Given the description of an element on the screen output the (x, y) to click on. 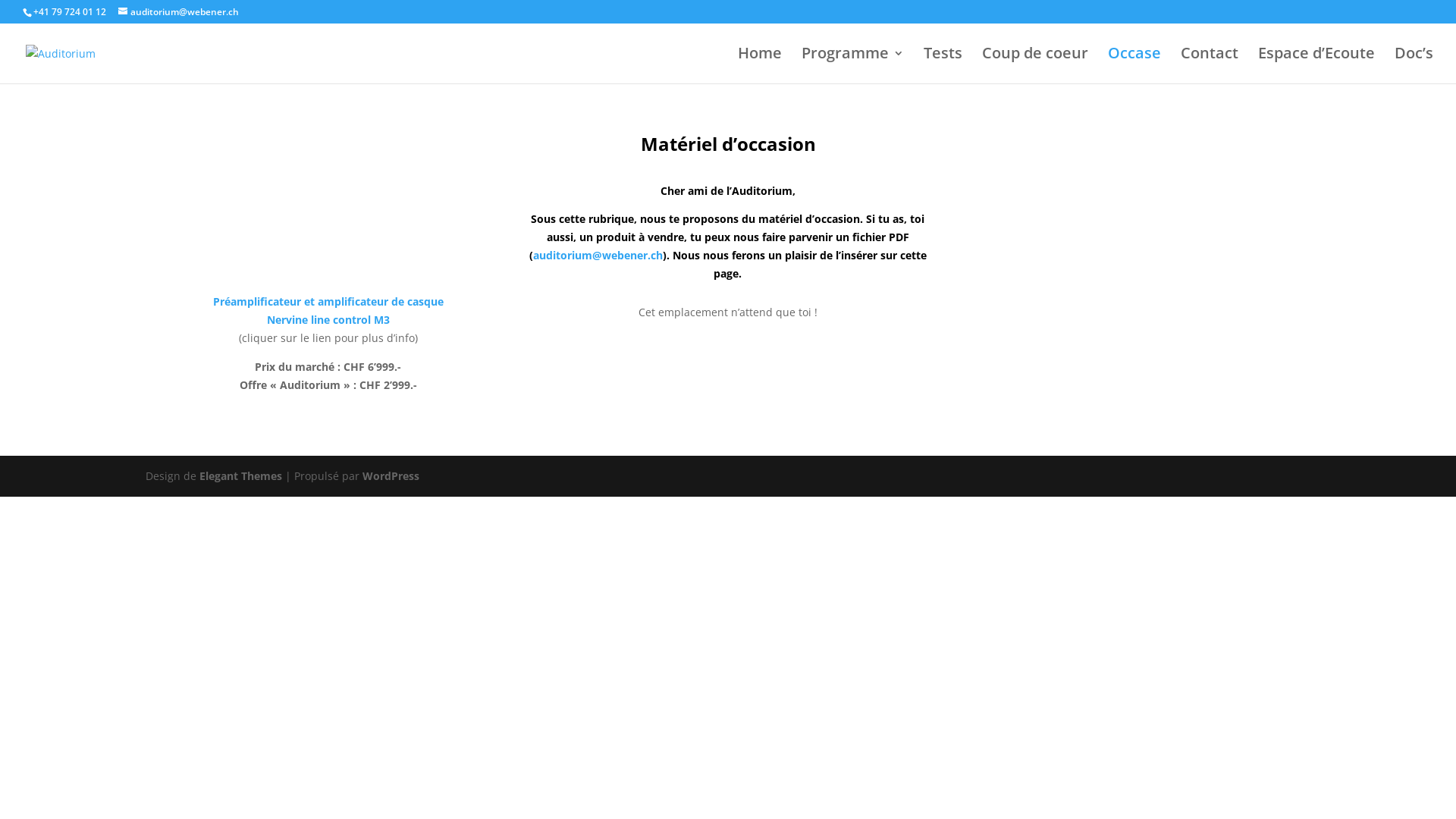
Coup de coeur Element type: text (1035, 65)
Home Element type: text (759, 65)
WordPress Element type: text (390, 475)
auditorium@webener.ch Element type: text (178, 11)
Elegant Themes Element type: text (240, 475)
Programme Element type: text (852, 65)
Tests Element type: text (942, 65)
Occase Element type: text (1134, 65)
auditorium@webener.ch Element type: text (597, 254)
Contact Element type: text (1209, 65)
